Given the description of an element on the screen output the (x, y) to click on. 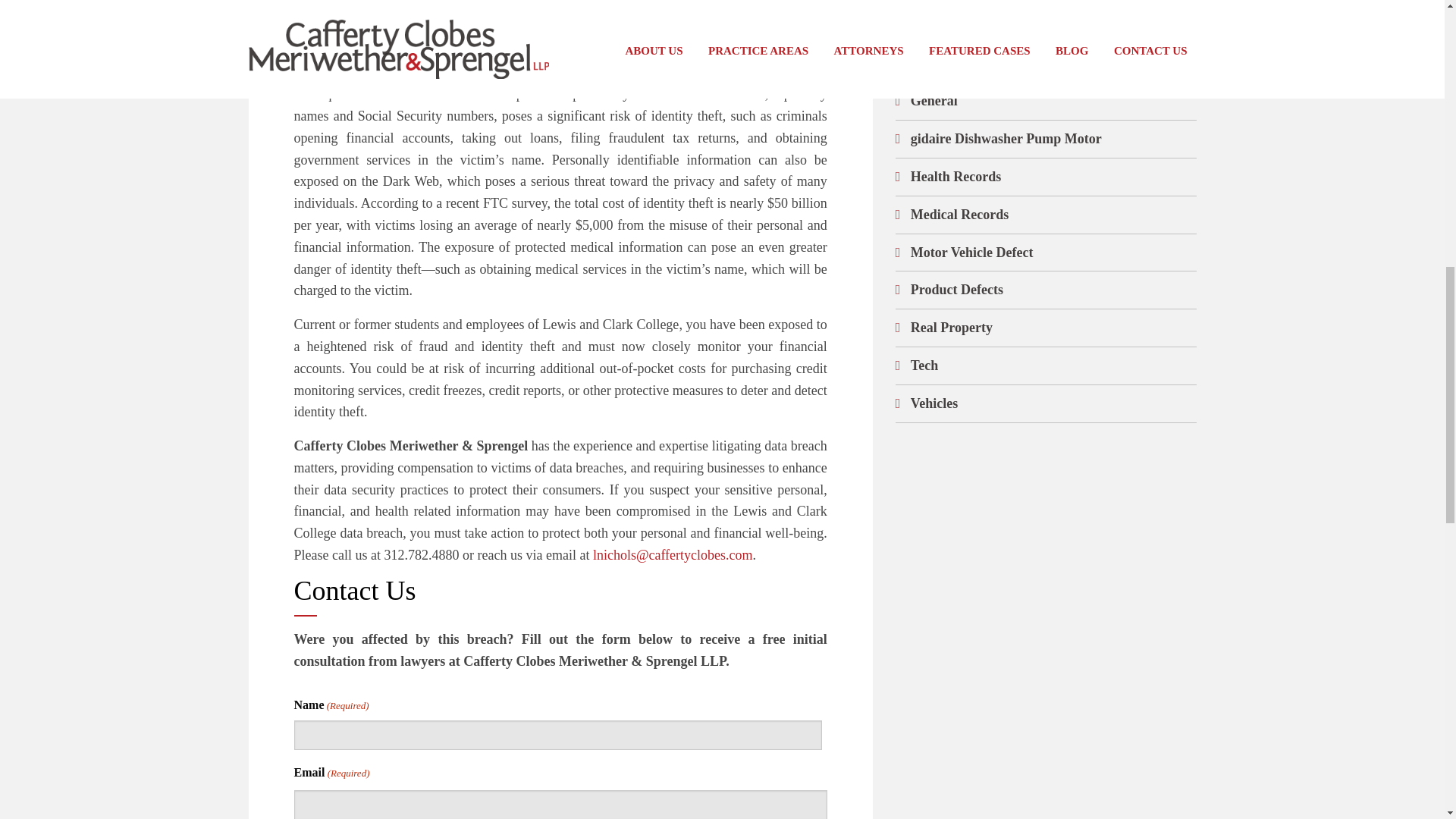
Frigidaire Dishwasher Defective (1004, 63)
Health Records (956, 176)
gidaire Dishwasher Pump Motor (1006, 138)
General (934, 100)
frigidaire dishwasher defect (992, 25)
